Given the description of an element on the screen output the (x, y) to click on. 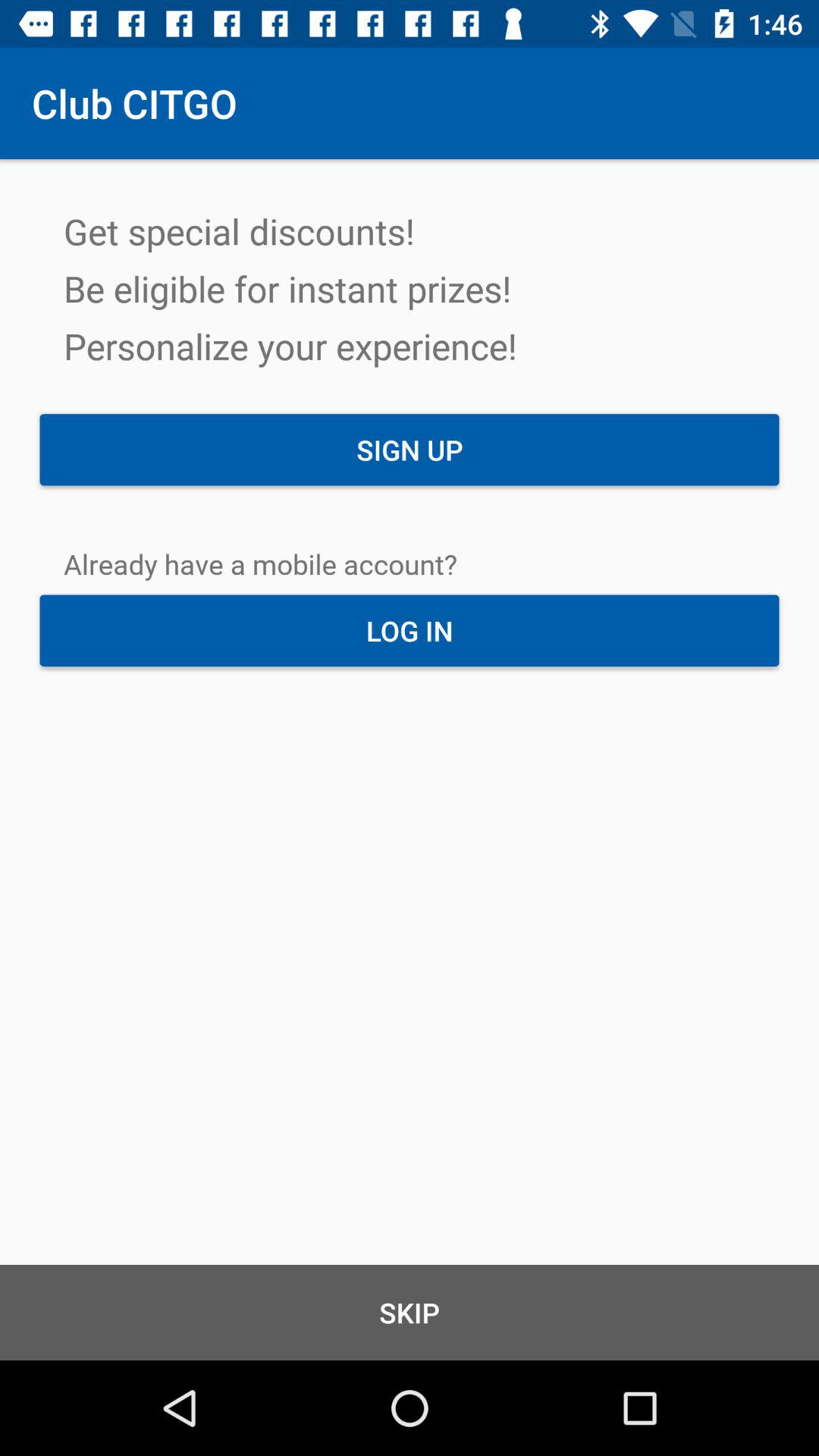
flip to sign up icon (409, 449)
